Given the description of an element on the screen output the (x, y) to click on. 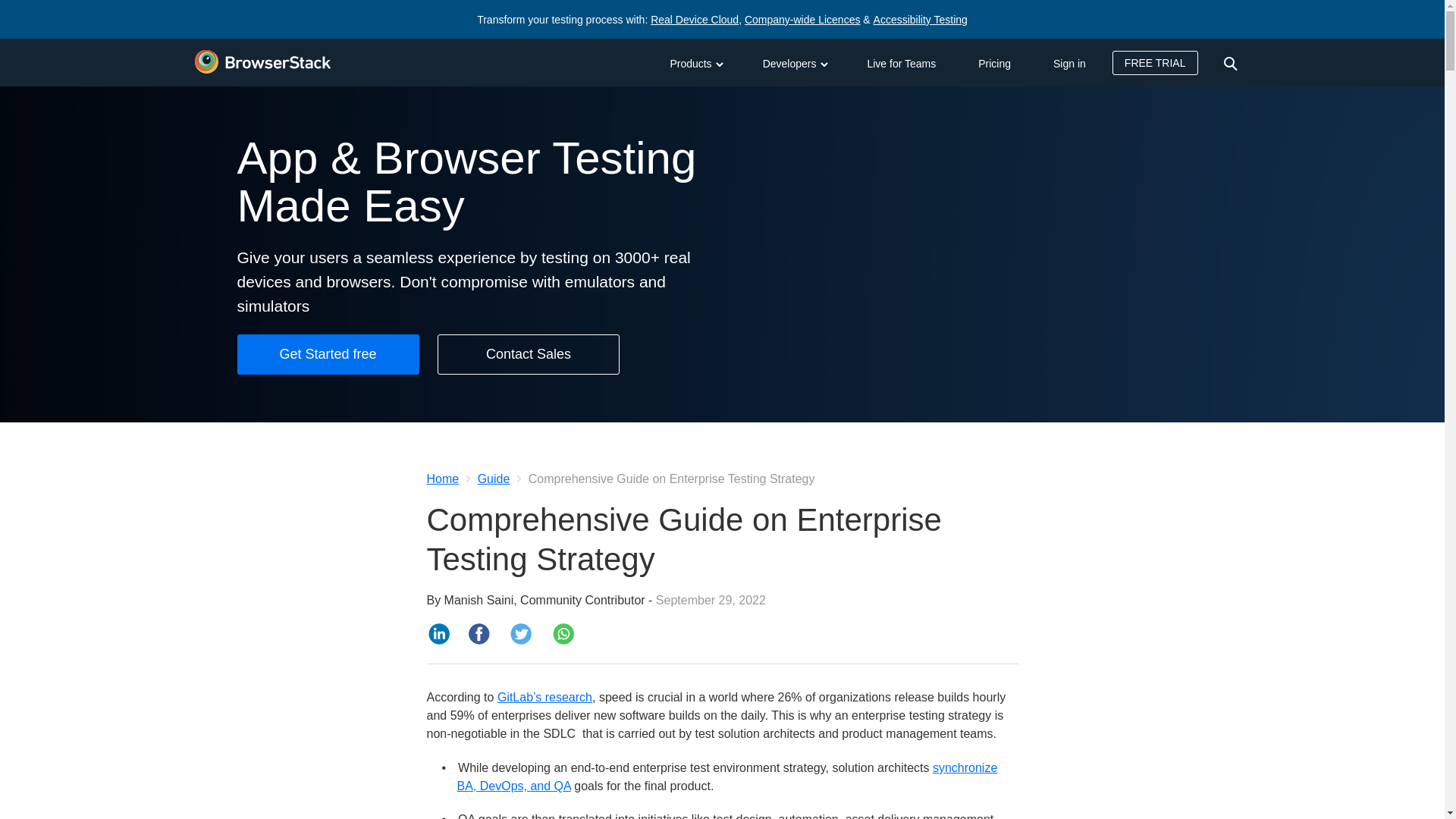
Accessibility Testing (920, 19)
Products (694, 62)
Real Device Cloud (694, 19)
BrowserStack Logo (261, 61)
Company-wide Licences (802, 19)
